Given the description of an element on the screen output the (x, y) to click on. 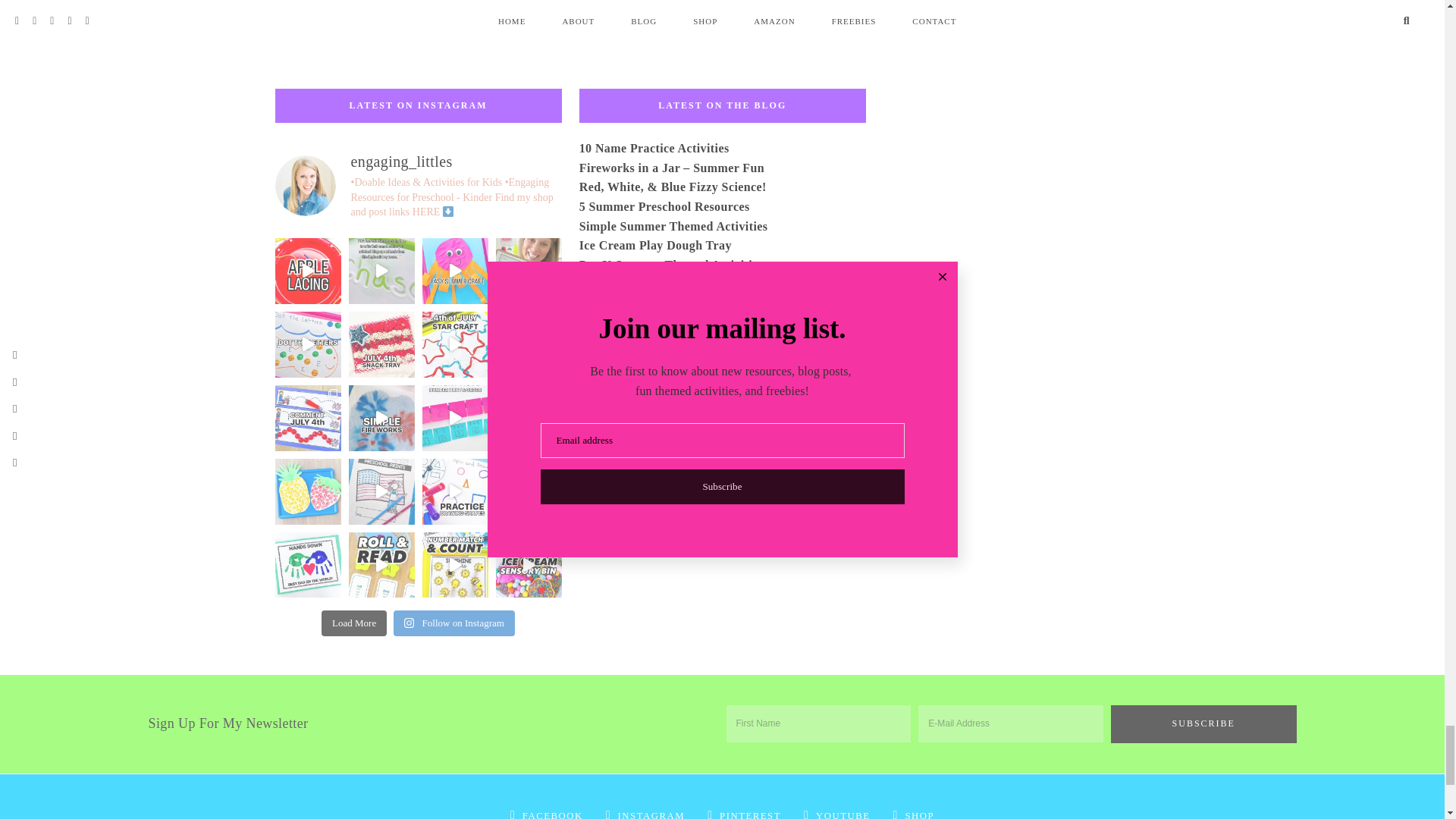
Subscribe (1202, 723)
